Given the description of an element on the screen output the (x, y) to click on. 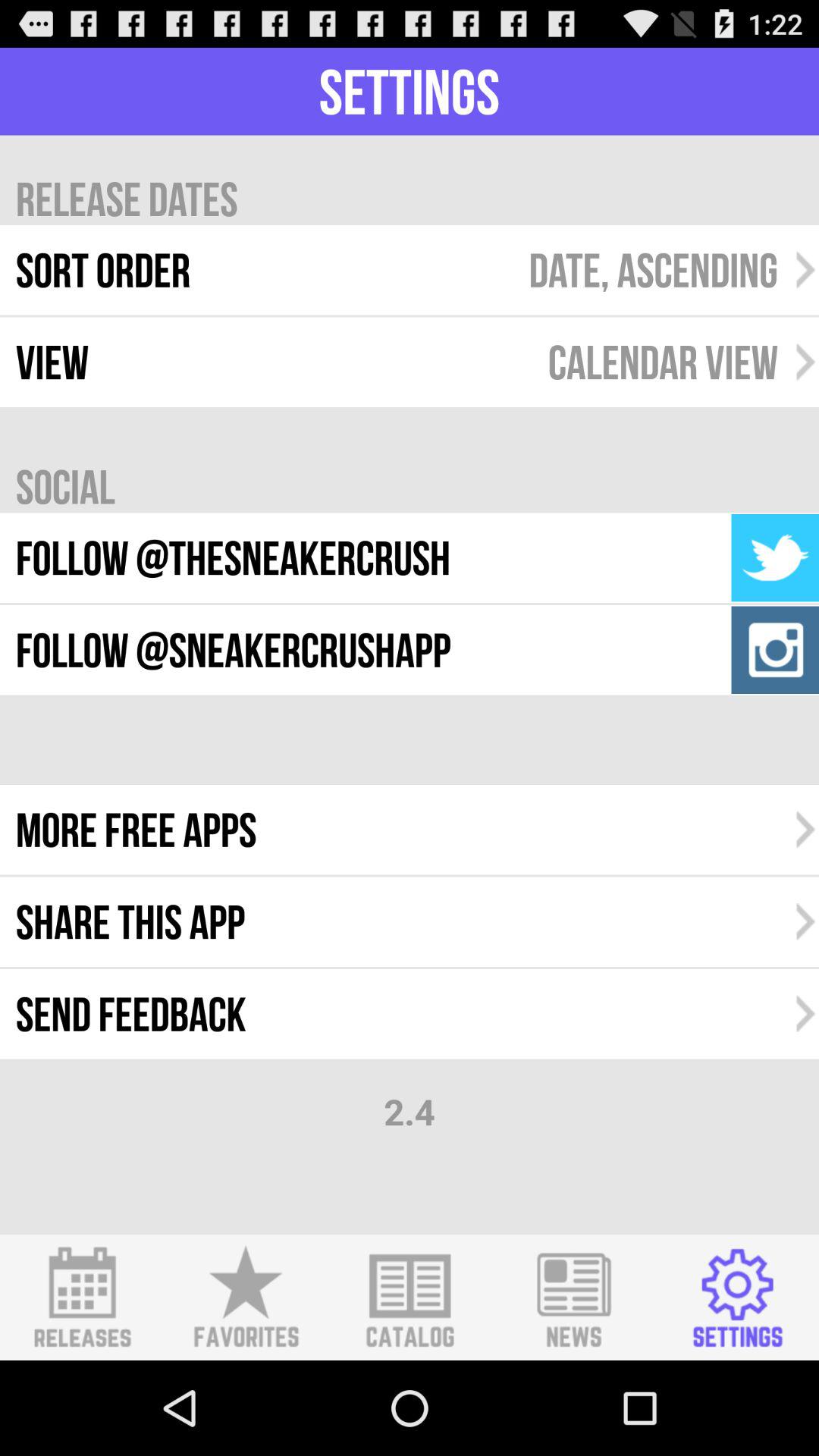
releases option (81, 1297)
